Given the description of an element on the screen output the (x, y) to click on. 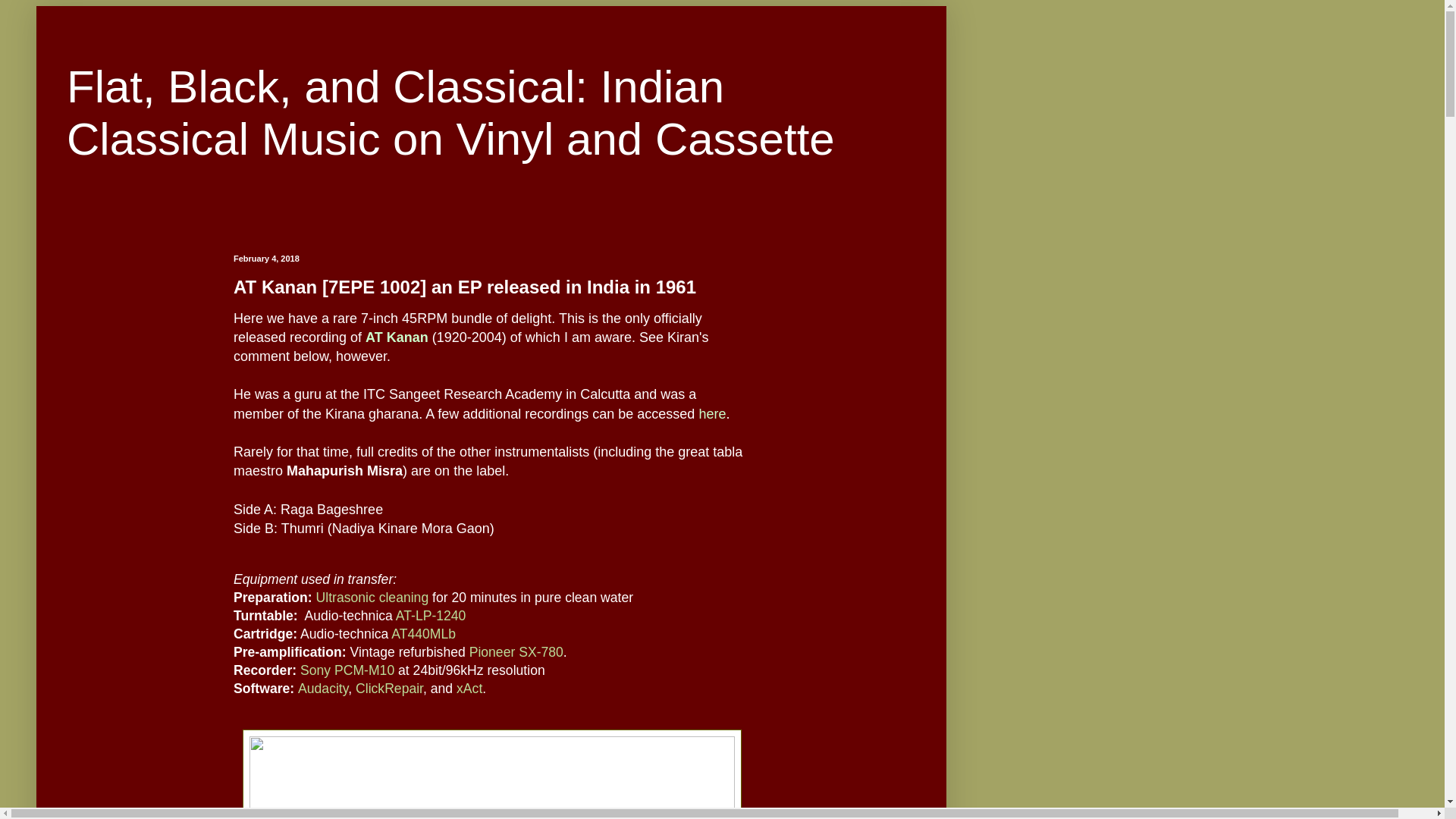
Audacity (322, 688)
xAct (469, 688)
AT-LP-1240 (430, 615)
Pioneer SX-780 (515, 652)
AT440MLb (423, 633)
ClickRepair (389, 688)
Sony PCM-M10 (346, 670)
Ultrasonic cleaning (372, 597)
here (711, 413)
AT Kanan (396, 337)
